Given the description of an element on the screen output the (x, y) to click on. 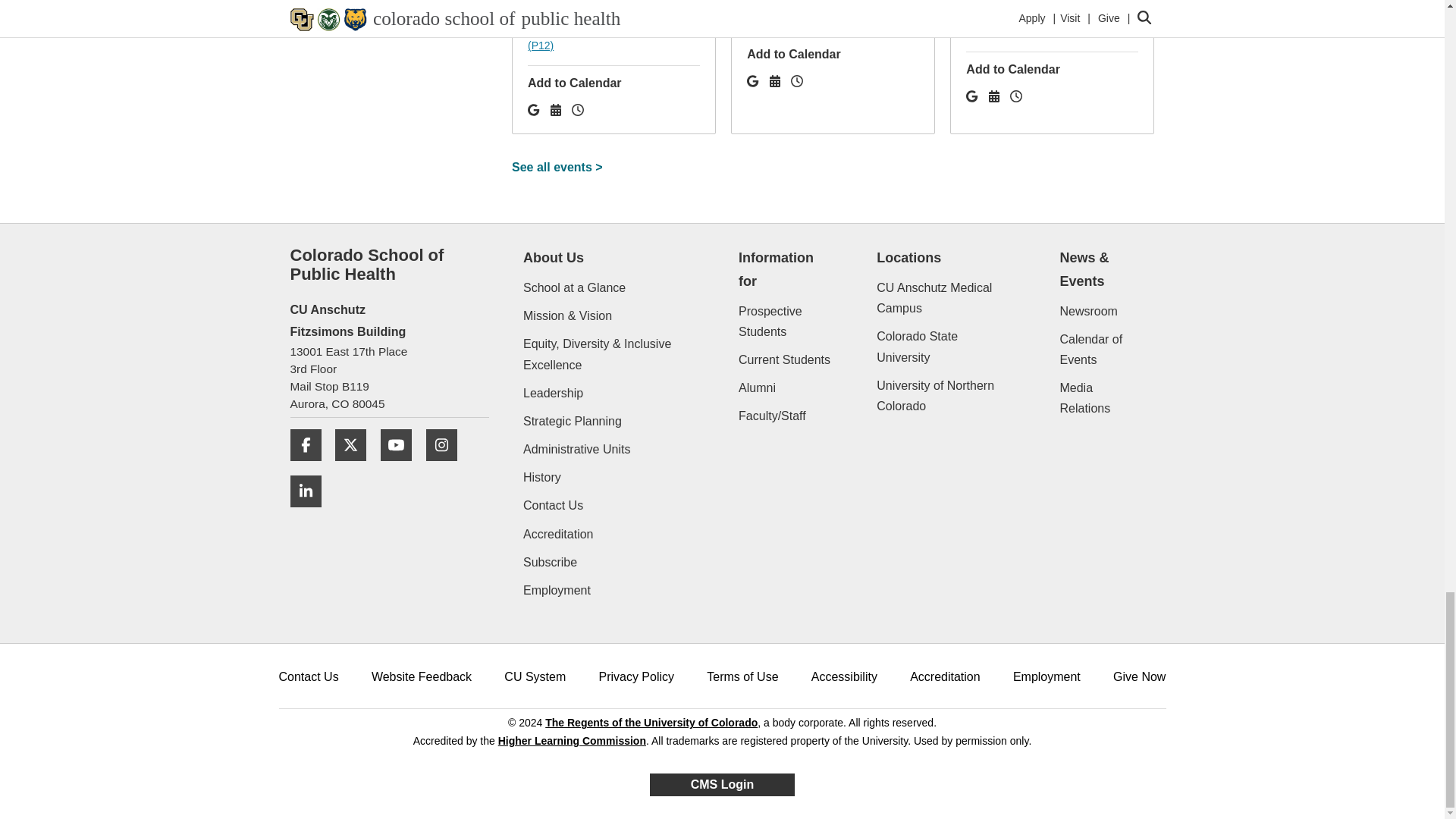
Save to iCal (995, 96)
Save to Outlook (1016, 96)
Save to Google Calendar (535, 110)
Save to iCal (776, 81)
Save to Outlook (796, 81)
Save to Google Calendar (973, 96)
Save to iCal (557, 110)
Save to Outlook (577, 110)
Save to Google Calendar (753, 81)
